Given the description of an element on the screen output the (x, y) to click on. 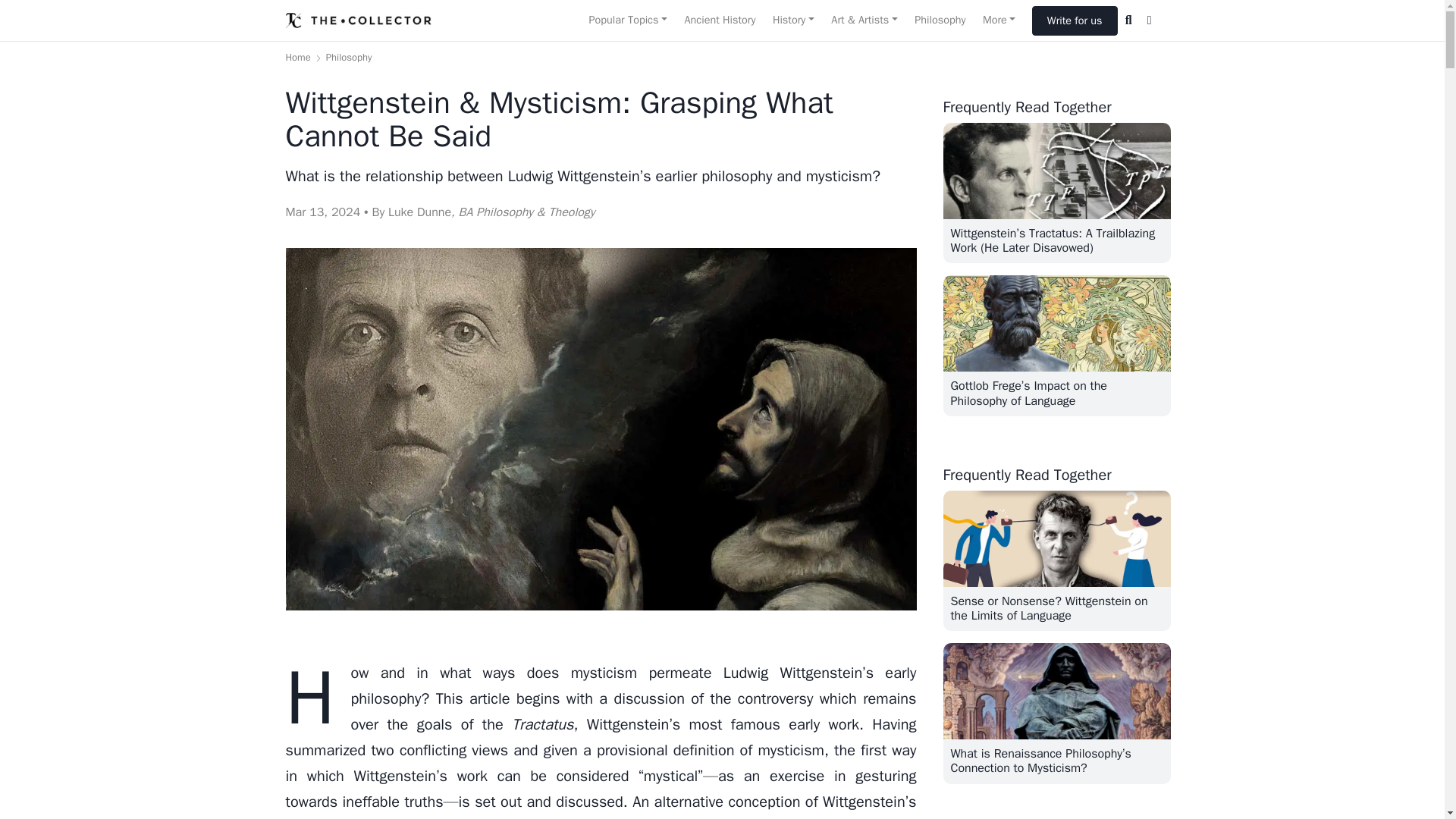
Philosophy (939, 20)
Popular Topics (627, 20)
Ancient History (718, 20)
Write for us (1075, 20)
History (793, 20)
More (999, 20)
